Given the description of an element on the screen output the (x, y) to click on. 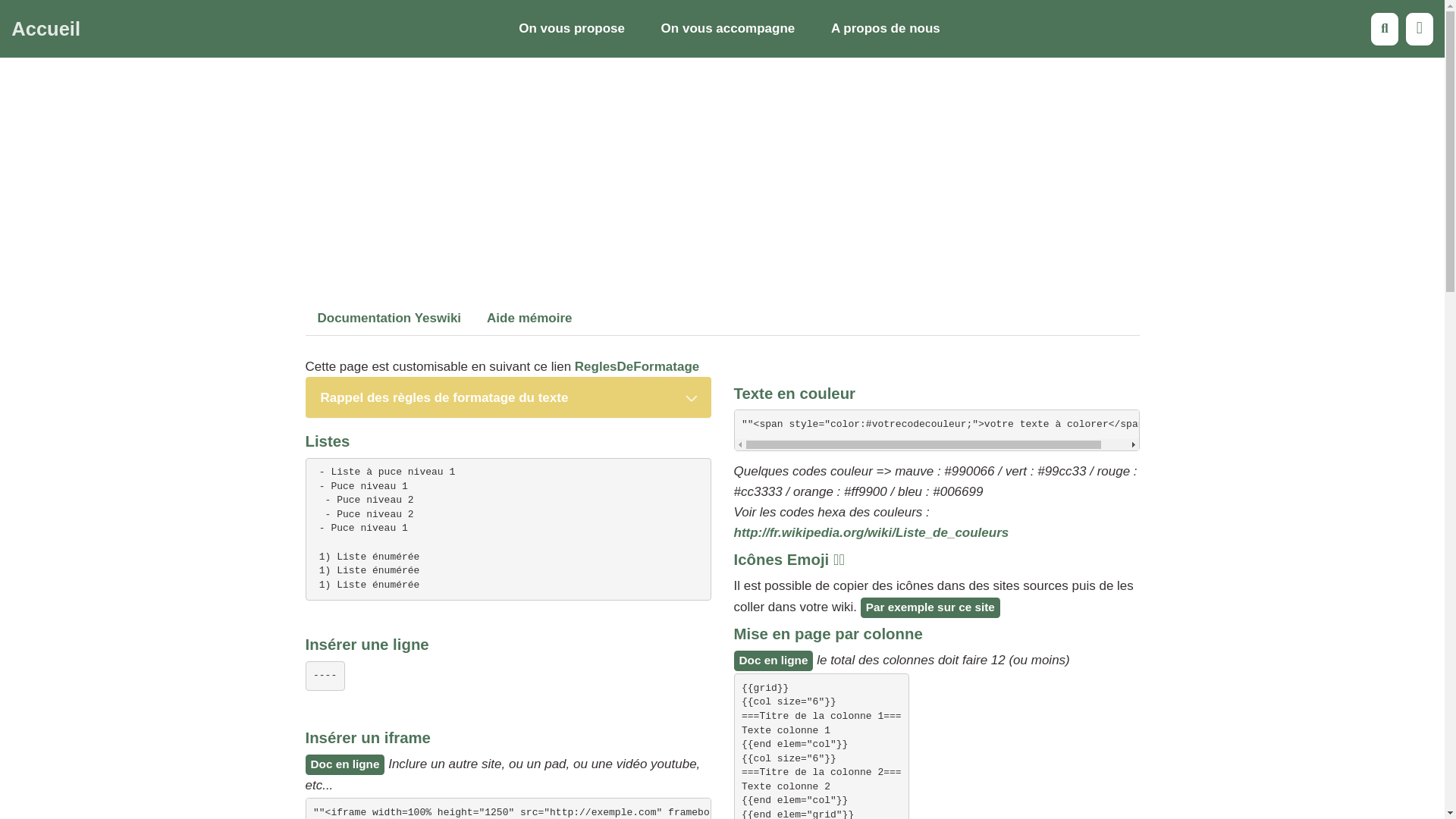
A propos de nous Element type: text (884, 29)
Doc en ligne Element type: text (773, 660)
Doc en ligne Element type: text (344, 764)
http://fr.wikipedia.org/wiki/Liste_de_couleurs Element type: text (871, 532)
Accueil Element type: text (45, 28)
On vous accompagne Element type: text (727, 29)
Rechercher Element type: text (1384, 28)
ReglesDeFormatage Element type: text (636, 366)
On vous propose Element type: text (571, 29)
Par exemple sur ce site Element type: text (930, 607)
Documentation Yeswiki Element type: text (388, 318)
